Given the description of an element on the screen output the (x, y) to click on. 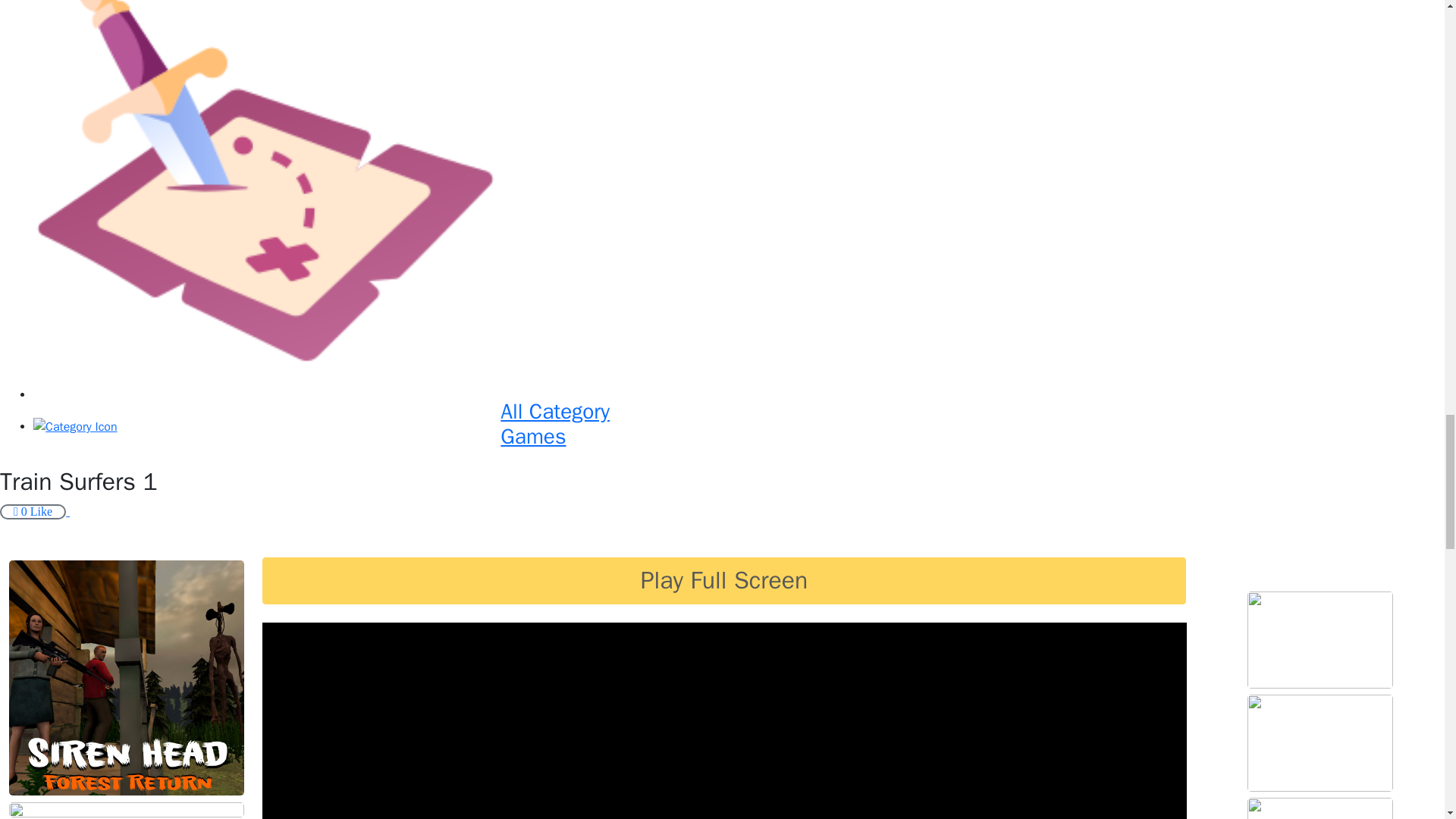
0 Like (734, 426)
